Given the description of an element on the screen output the (x, y) to click on. 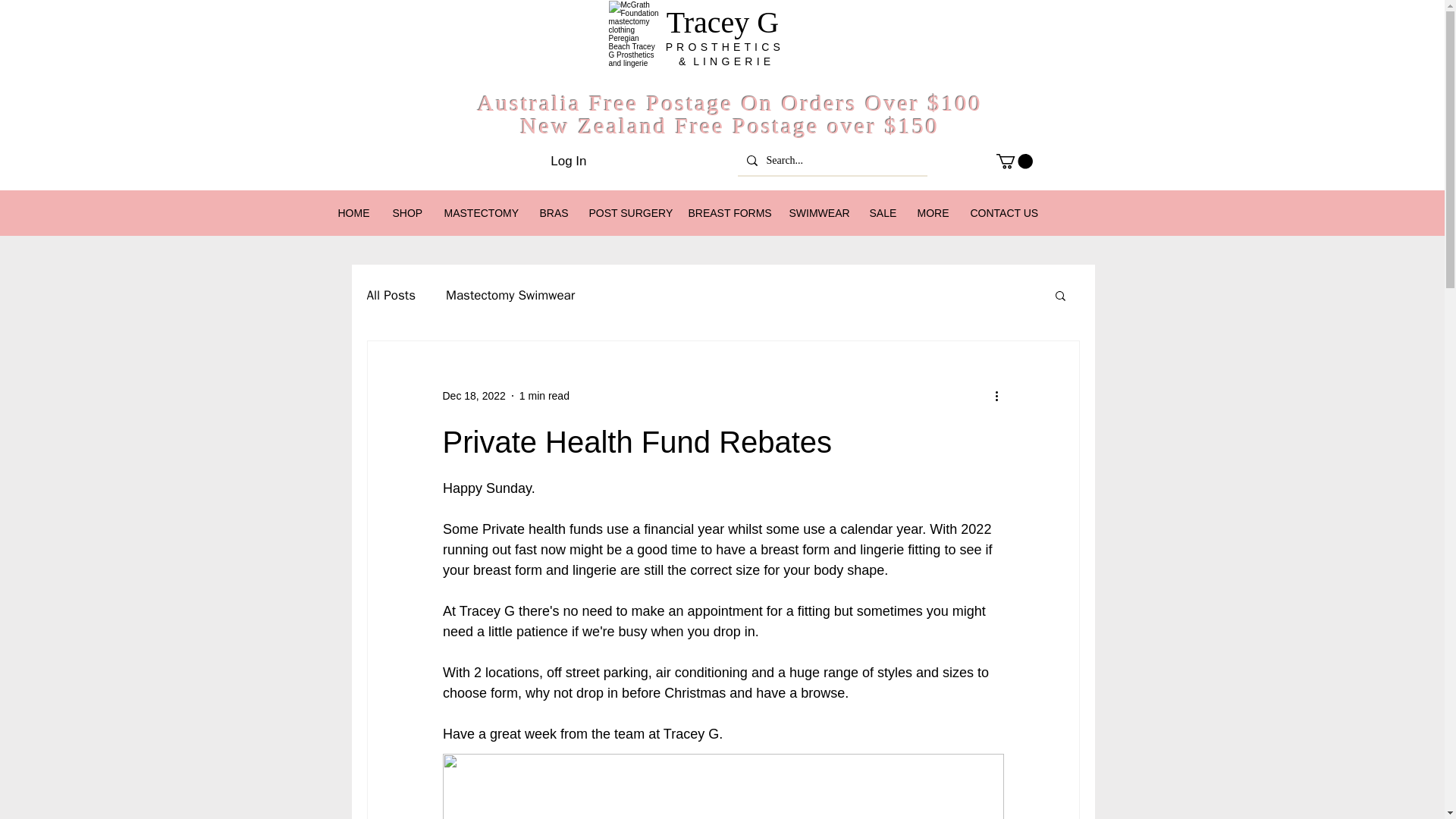
Dec 18, 2022 (473, 395)
BRAS (551, 212)
BREAST FORMS (727, 212)
1 min read (544, 395)
POST SURGERY (627, 212)
HOME (353, 212)
Log In (568, 161)
